Given the description of an element on the screen output the (x, y) to click on. 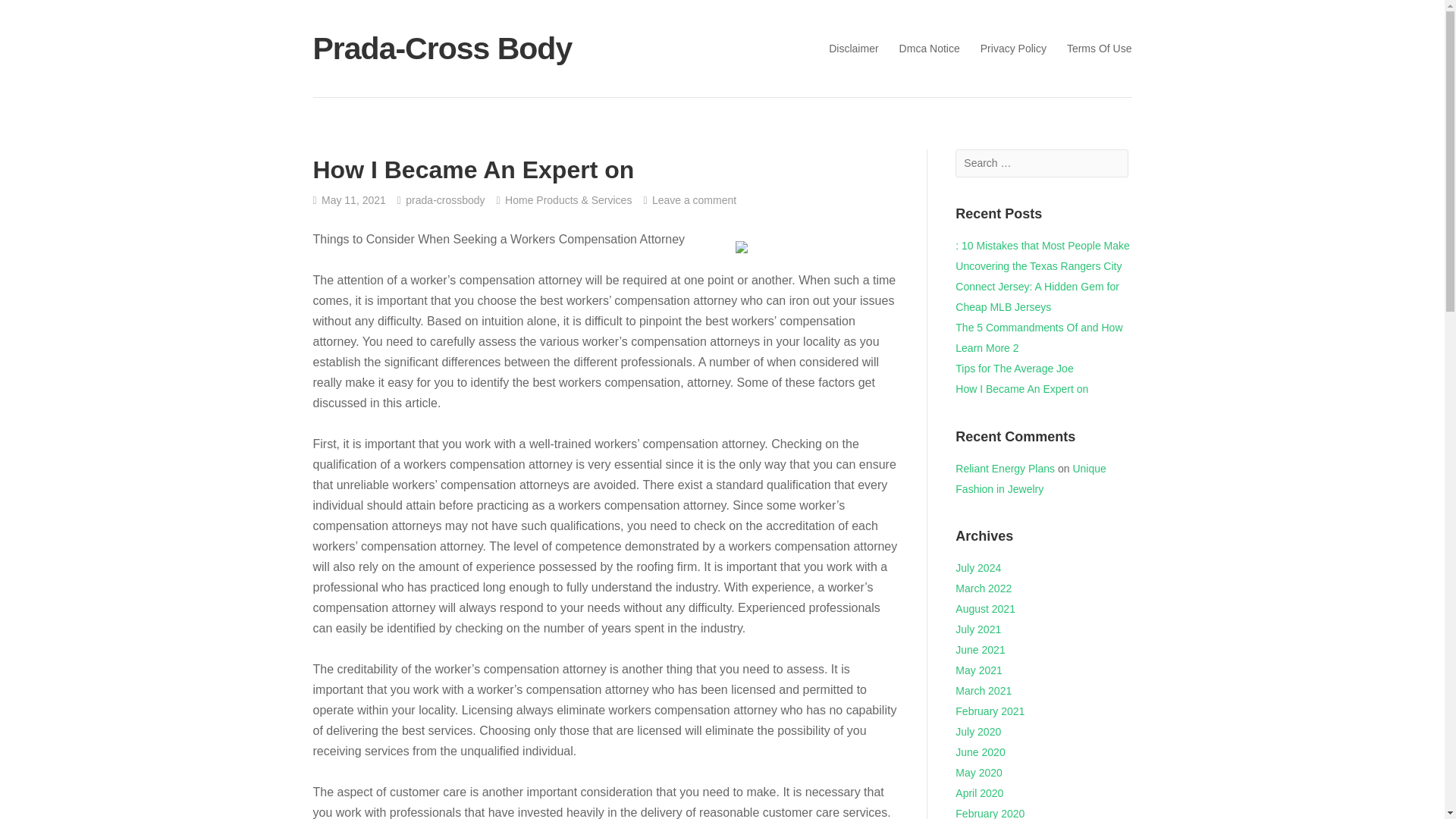
Disclaimer (852, 47)
February 2021 (990, 711)
June 2020 (979, 752)
Terms Of Use (1099, 47)
Prada-Cross Body (499, 48)
July 2024 (978, 567)
June 2021 (979, 649)
Search (32, 13)
May 2021 (978, 670)
prada-crossbody (440, 200)
